Given the description of an element on the screen output the (x, y) to click on. 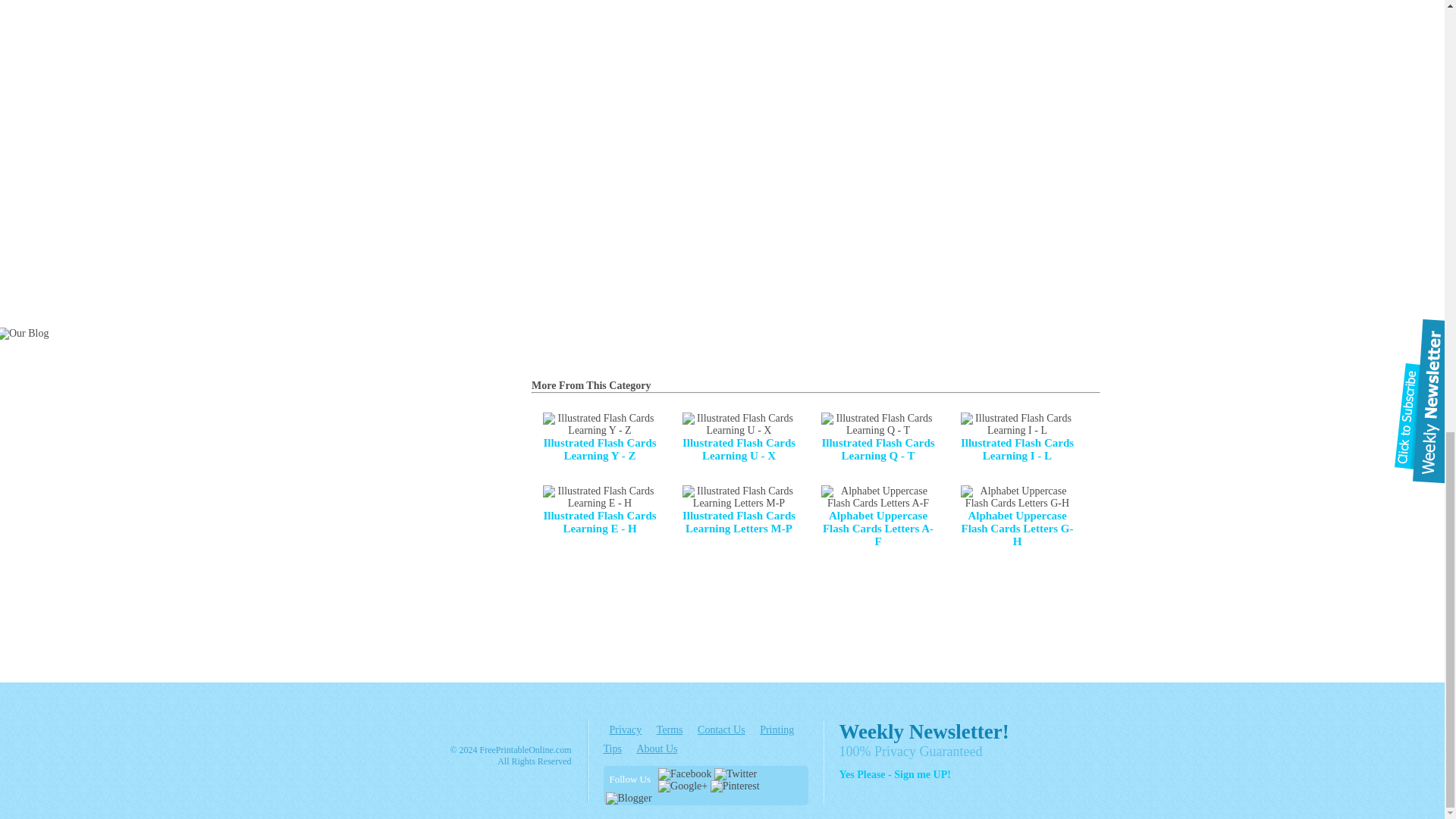
Illustrated Flash Cards Learning Q - T (877, 437)
Illustrated Flash Cards Learning E - H (599, 510)
Illustrated Flash Cards Learning I - L (1016, 437)
Alphabet Uppercase Flash Cards Letters A-F (877, 516)
Alphabet Uppercase Flash Cards Letters G-H (1016, 516)
Illustrated Flash Cards Learning U - X (739, 437)
Illustrated Flash Cards Learning Y - Z (599, 437)
Illustrated Flash Cards Learning Letters M-P (739, 510)
